Given the description of an element on the screen output the (x, y) to click on. 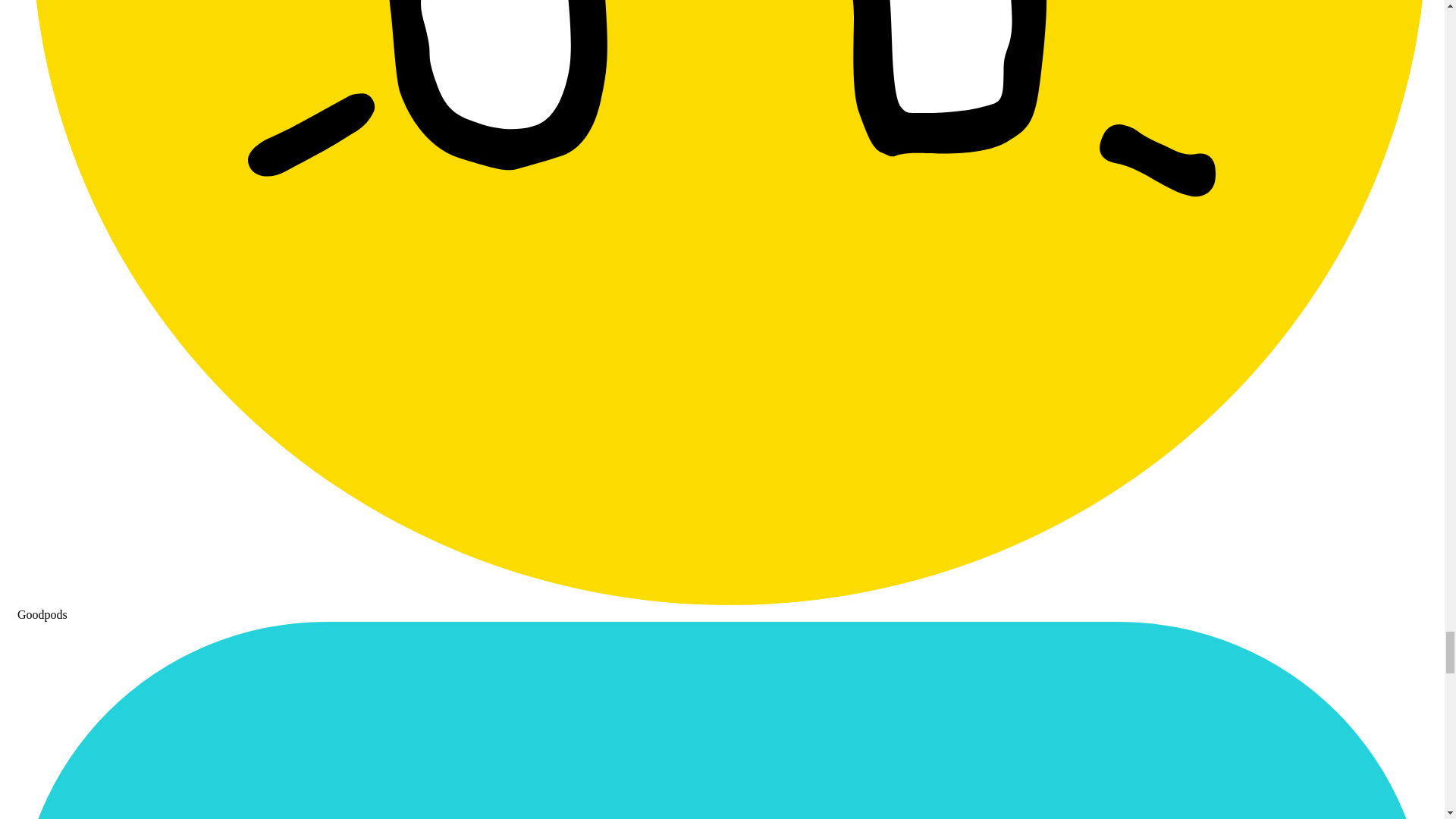
Goodpods Goodpods (721, 607)
